Given the description of an element on the screen output the (x, y) to click on. 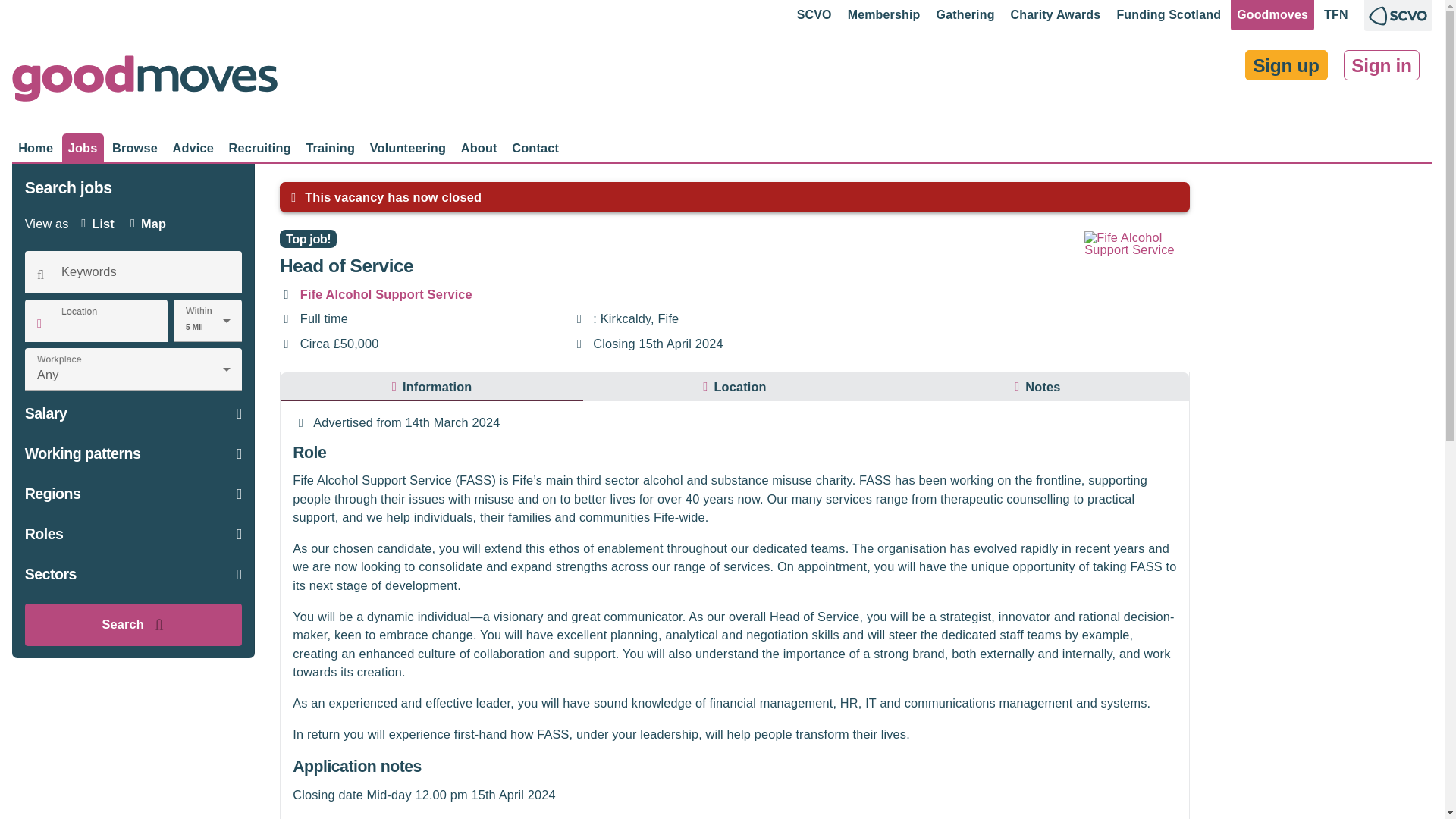
Start date (301, 422)
Map (148, 223)
Gathering (123, 223)
SCVO (965, 15)
Charity Awards (813, 15)
Home (1055, 15)
Browse (735, 386)
Goodmoves (35, 147)
Closing date (134, 147)
Contact (1272, 15)
Membership (579, 344)
Search (534, 147)
